Given the description of an element on the screen output the (x, y) to click on. 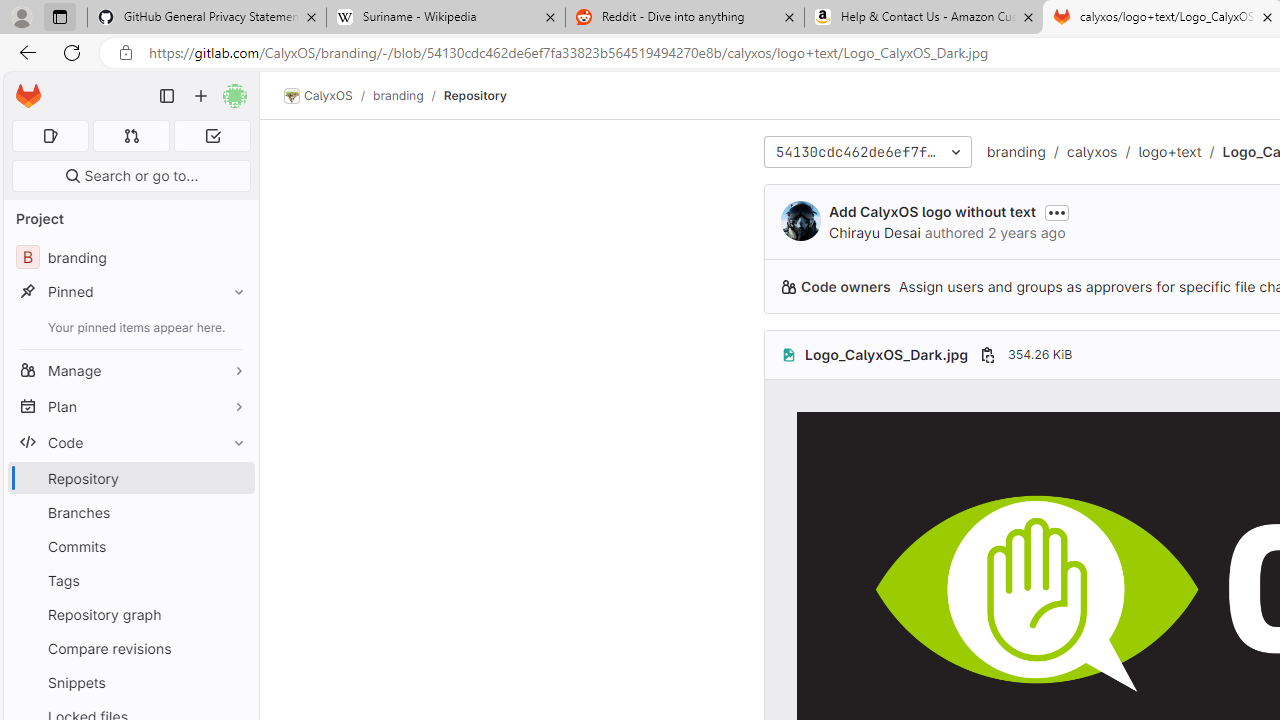
Class: s16 gl-icon gl-button-icon  (1056, 213)
logo+text (1169, 151)
B branding (130, 257)
Copy file path (987, 354)
To-Do list 0 (212, 136)
54130cdc462de6ef7fa33823b564519494270e8b (867, 151)
Pin Tags (234, 580)
Toggle commit description (1056, 213)
Tags (130, 579)
Compare revisions (130, 648)
